Given the description of an element on the screen output the (x, y) to click on. 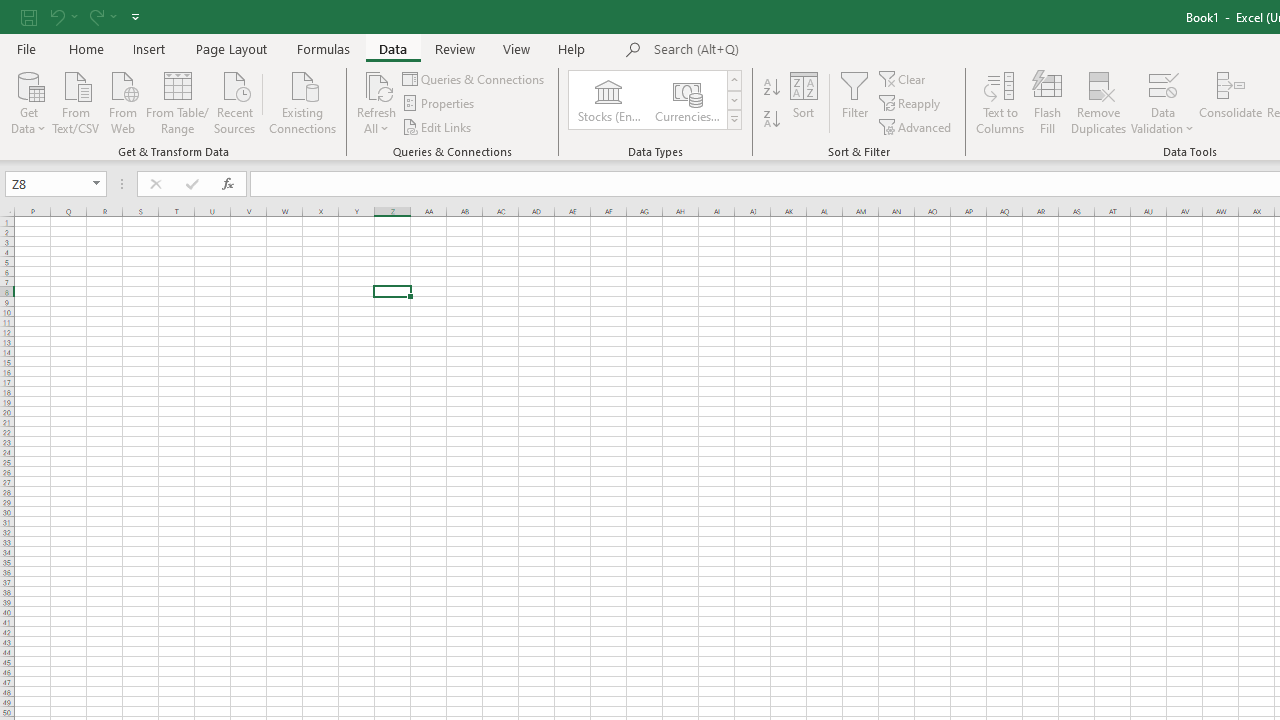
Advanced... (916, 126)
Refresh All (376, 84)
Get Data (28, 101)
Filter (854, 102)
Consolidate... (1230, 102)
Quick Access Toolbar (82, 16)
Open (96, 183)
File Tab (26, 48)
Home (86, 48)
Help (572, 48)
Sort A to Z (772, 87)
Existing Connections (303, 101)
Save (29, 15)
